Given the description of an element on the screen output the (x, y) to click on. 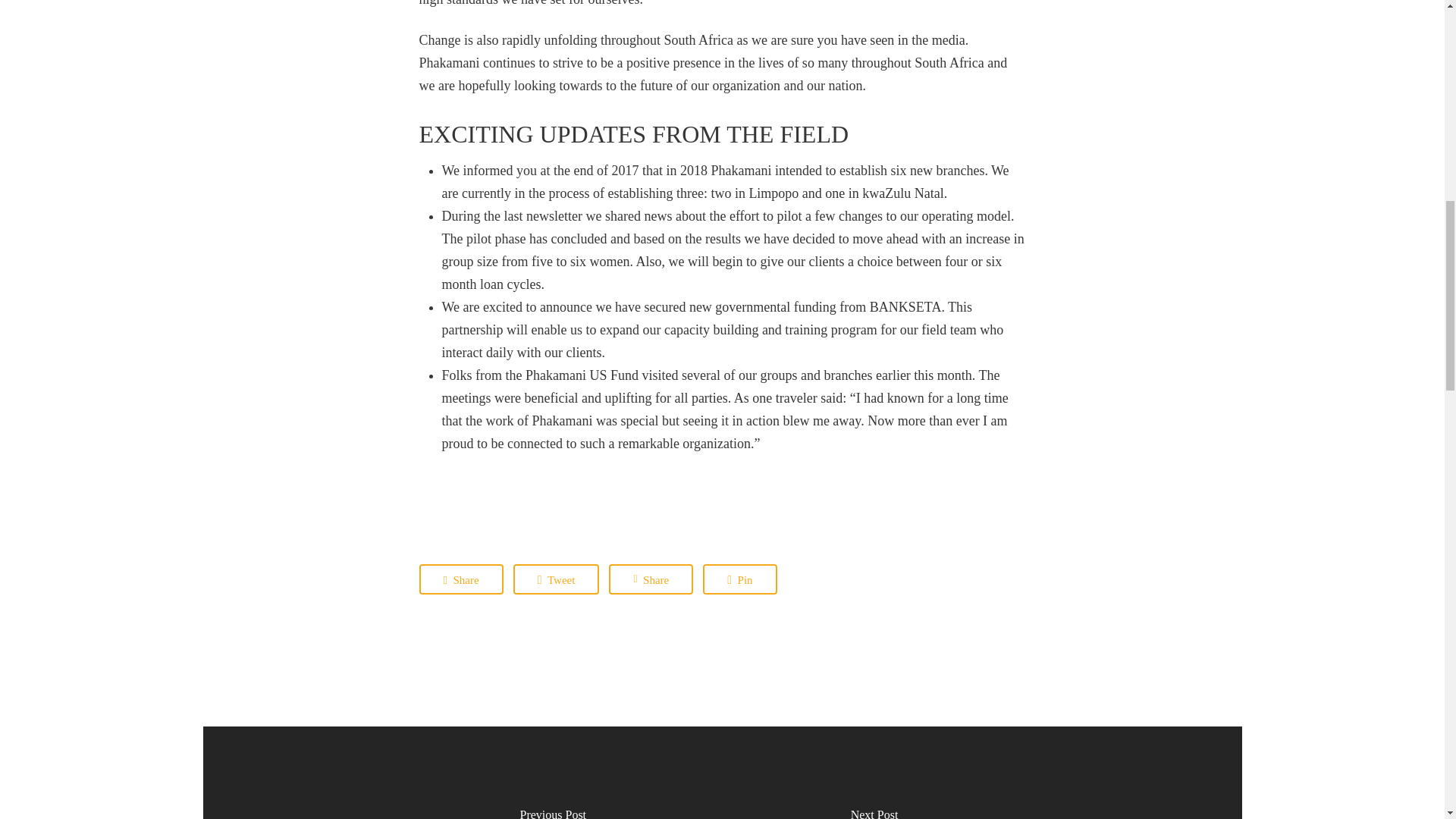
Share this (460, 579)
Tweet this (556, 579)
Pin this (739, 579)
Share this (650, 579)
Share (650, 579)
Tweet (556, 579)
Share (460, 579)
Pin (739, 579)
